Given the description of an element on the screen output the (x, y) to click on. 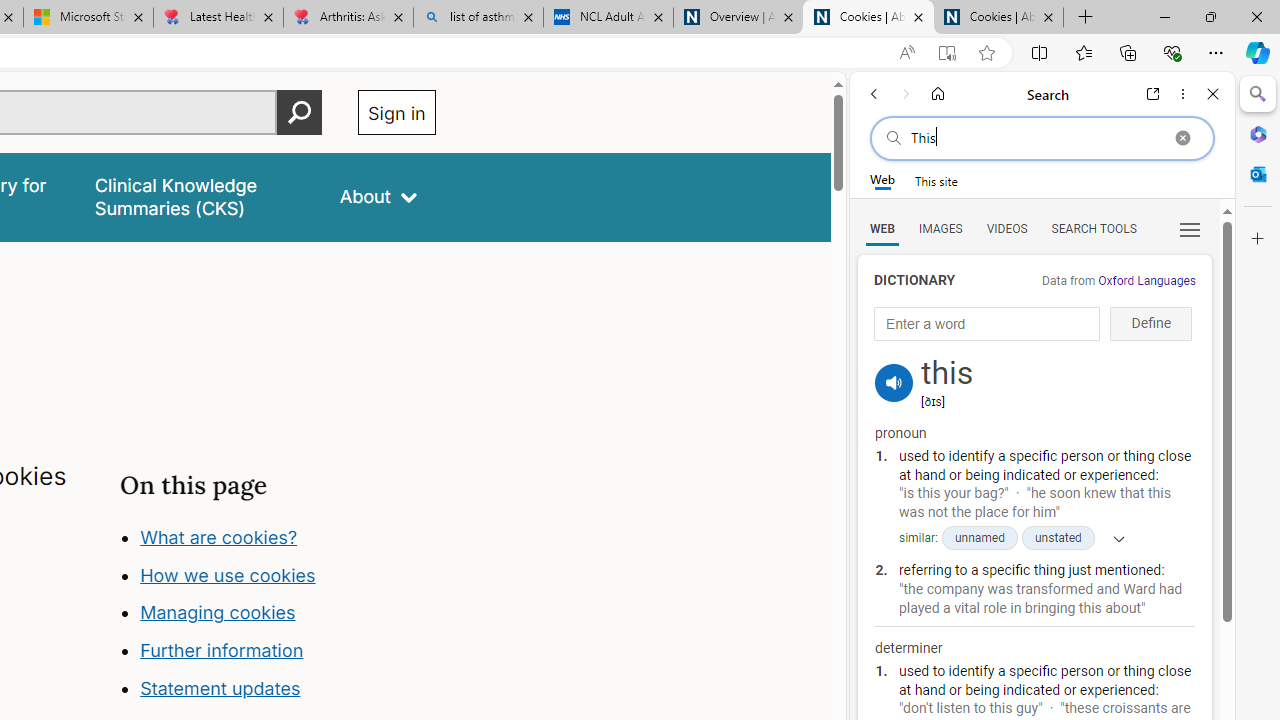
Show more (1112, 538)
Further information (221, 650)
What are cookies? (218, 536)
Link for logging (893, 359)
Cookies | About | NICE (998, 17)
